Given the description of an element on the screen output the (x, y) to click on. 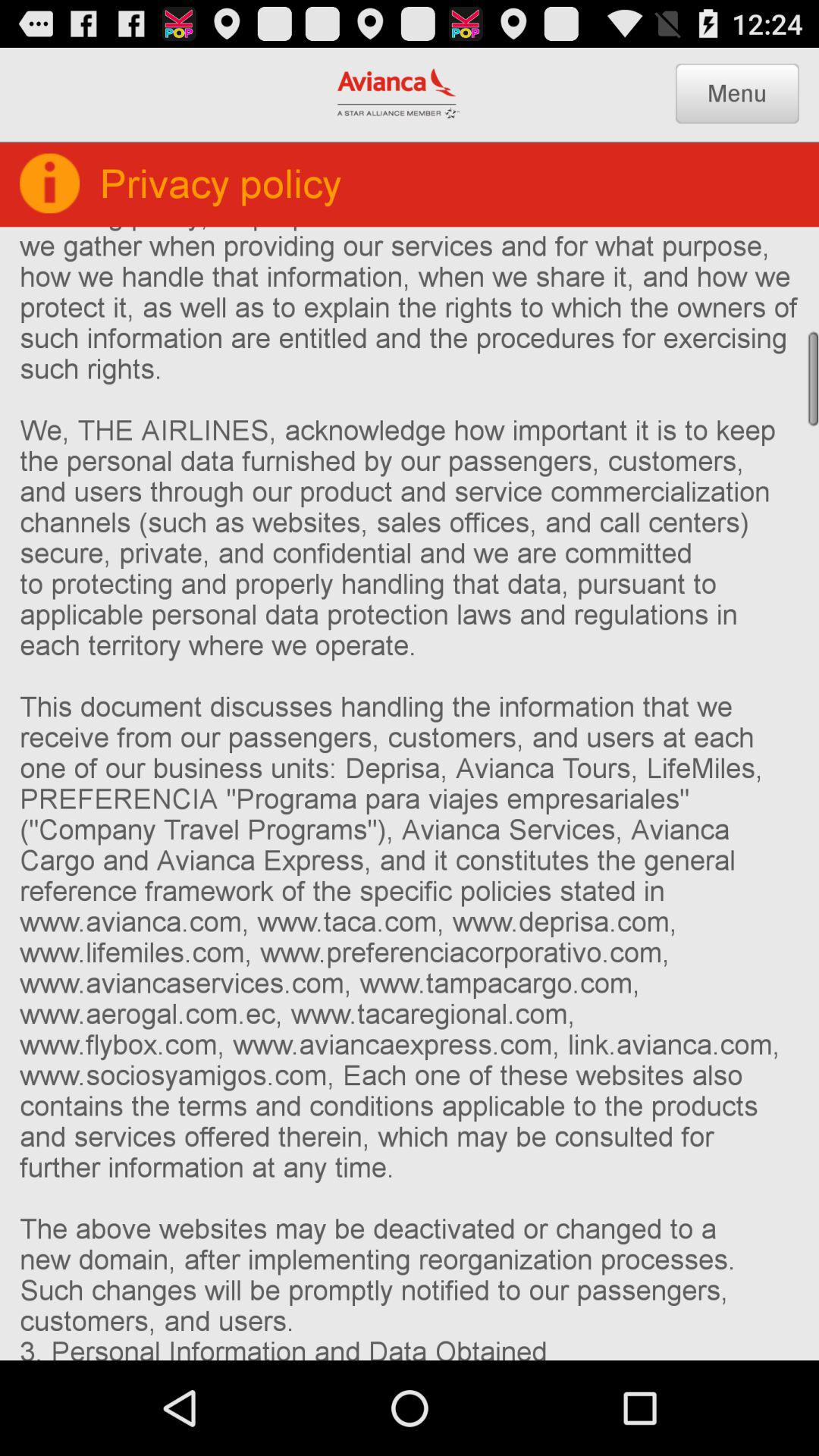
scroll to the menu button (737, 93)
